Given the description of an element on the screen output the (x, y) to click on. 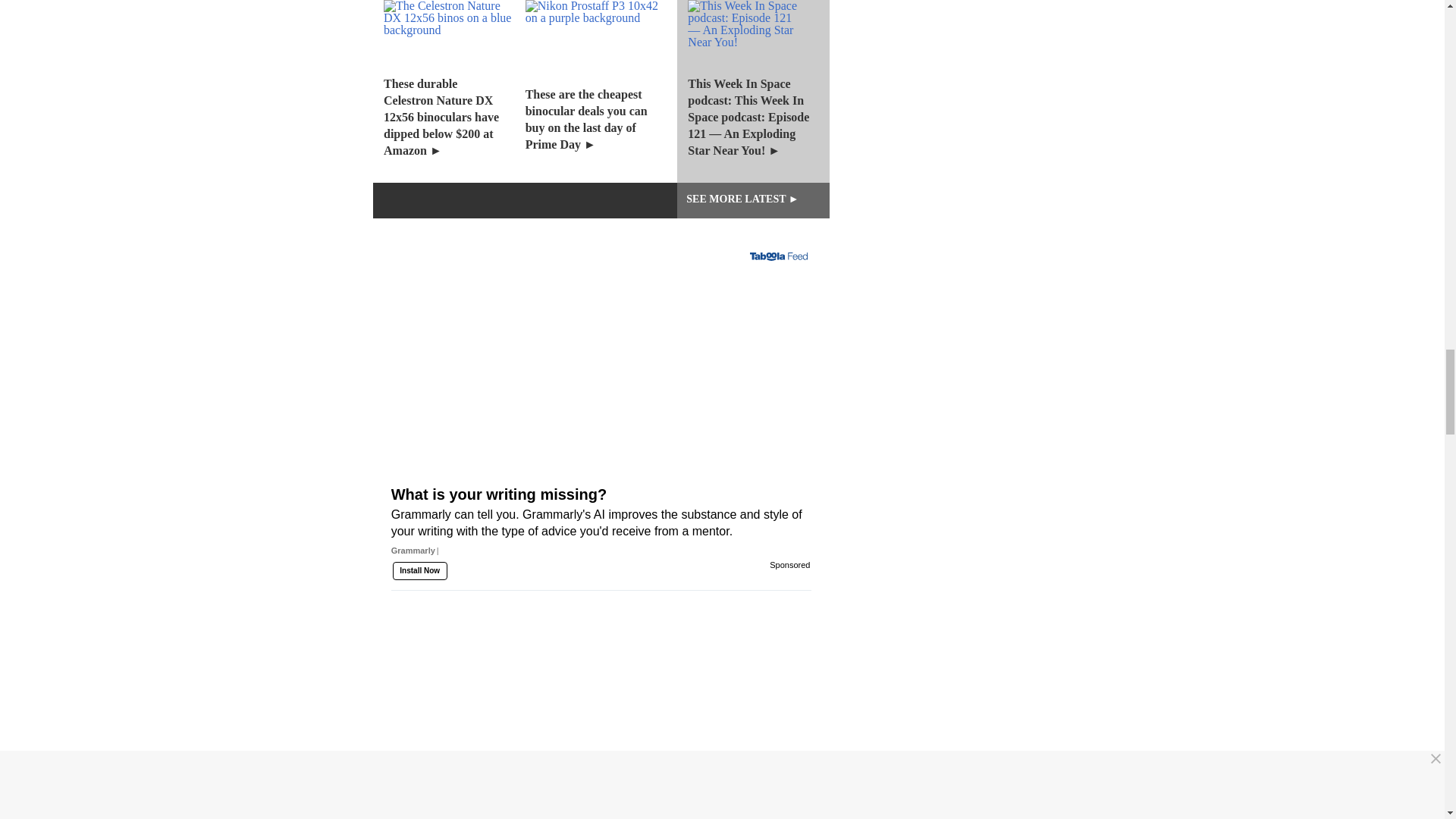
What is your writing missing? (600, 547)
What is your writing missing? (600, 396)
